Given the description of an element on the screen output the (x, y) to click on. 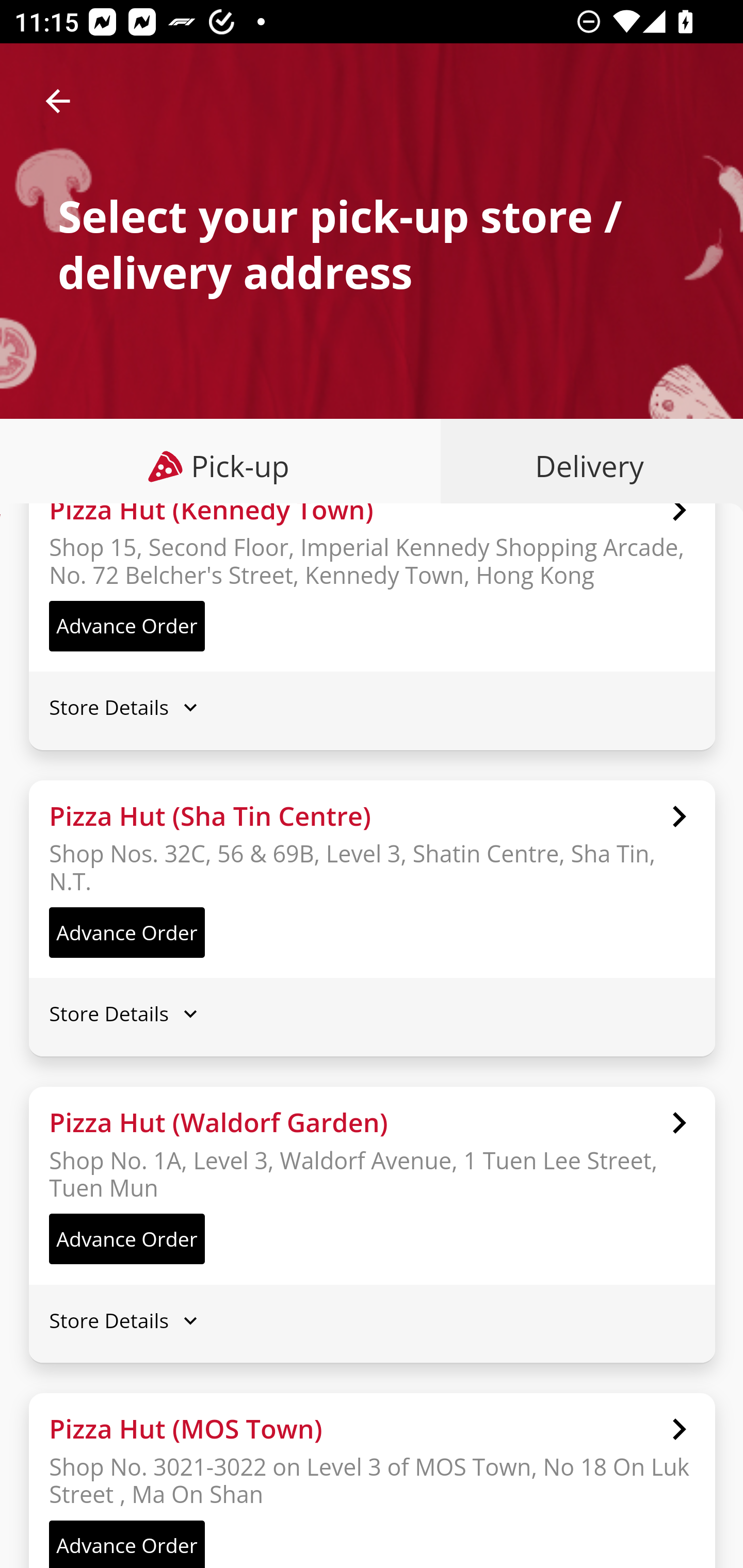
arrow_back (58, 100)
Pick-up (221, 466)
Delivery (585, 466)
Store Details (371, 708)
Store Details (371, 1013)
Store Details (371, 1320)
